Given the description of an element on the screen output the (x, y) to click on. 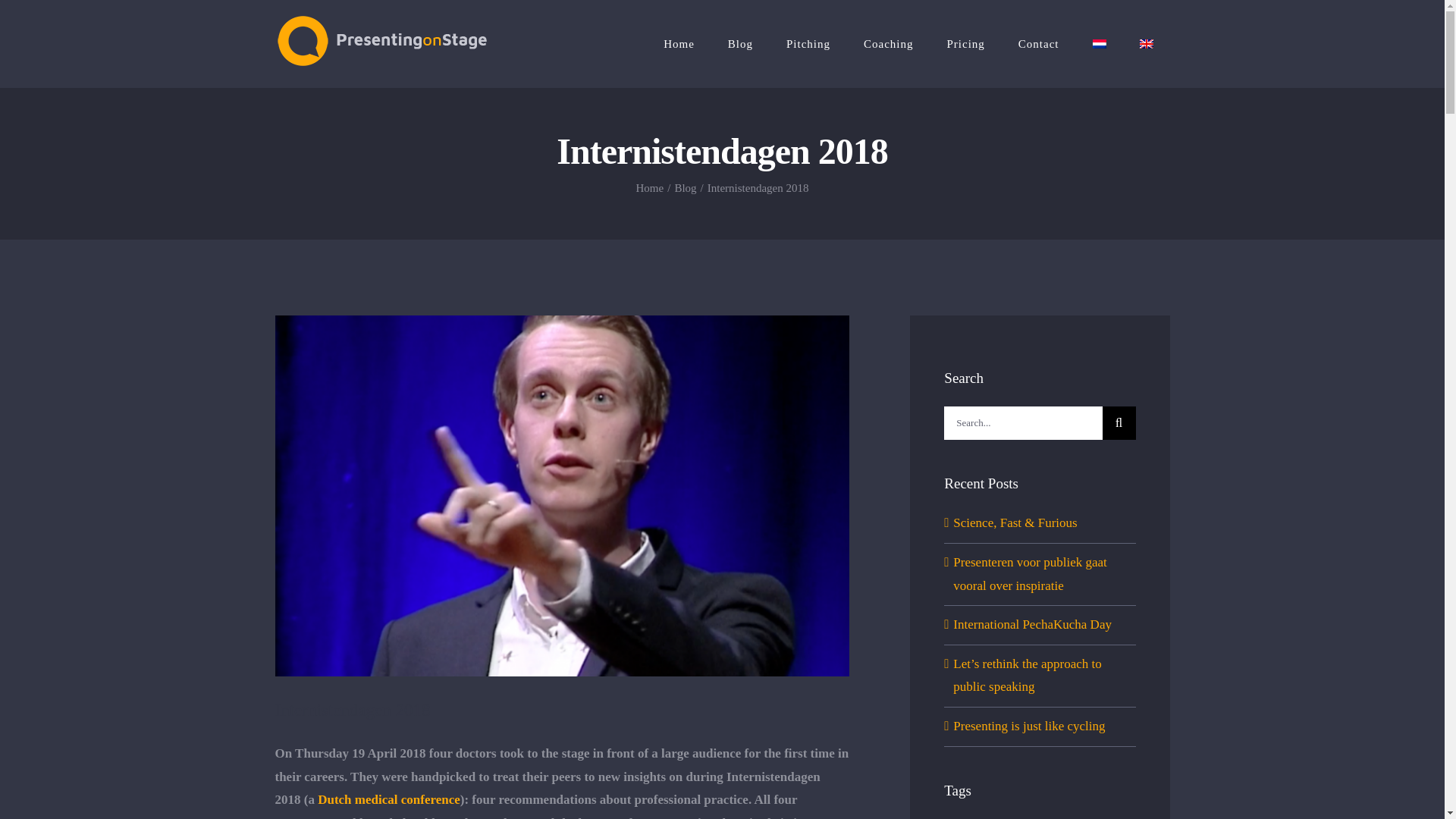
English (1145, 43)
Nederlands (1098, 43)
Dutch medical conference (388, 799)
Home (649, 187)
Coaching (888, 43)
Blog (684, 187)
